Given the description of an element on the screen output the (x, y) to click on. 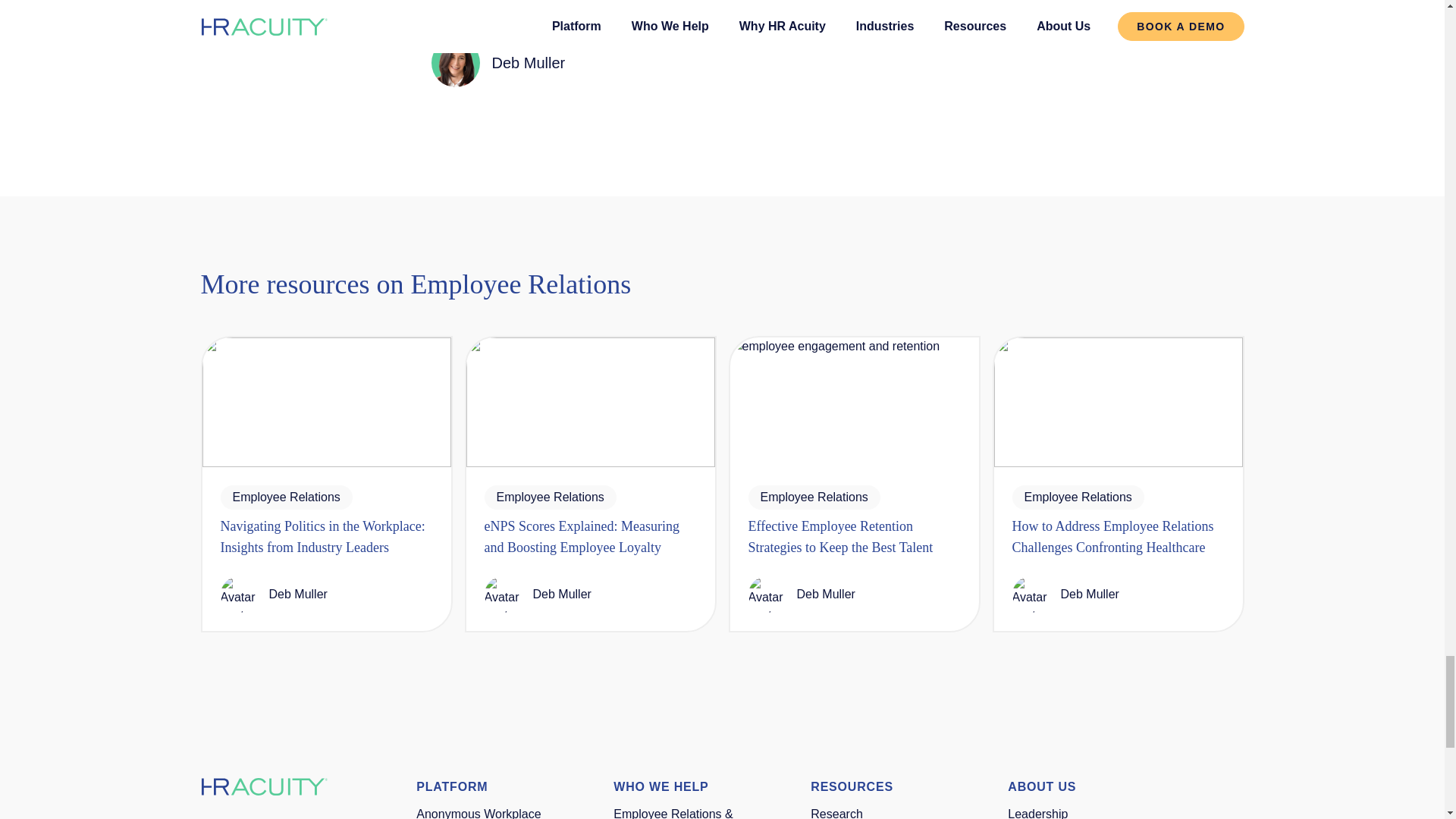
Feature image (325, 402)
Feature image (853, 402)
Feature image (1116, 402)
Feature image (589, 402)
